Given the description of an element on the screen output the (x, y) to click on. 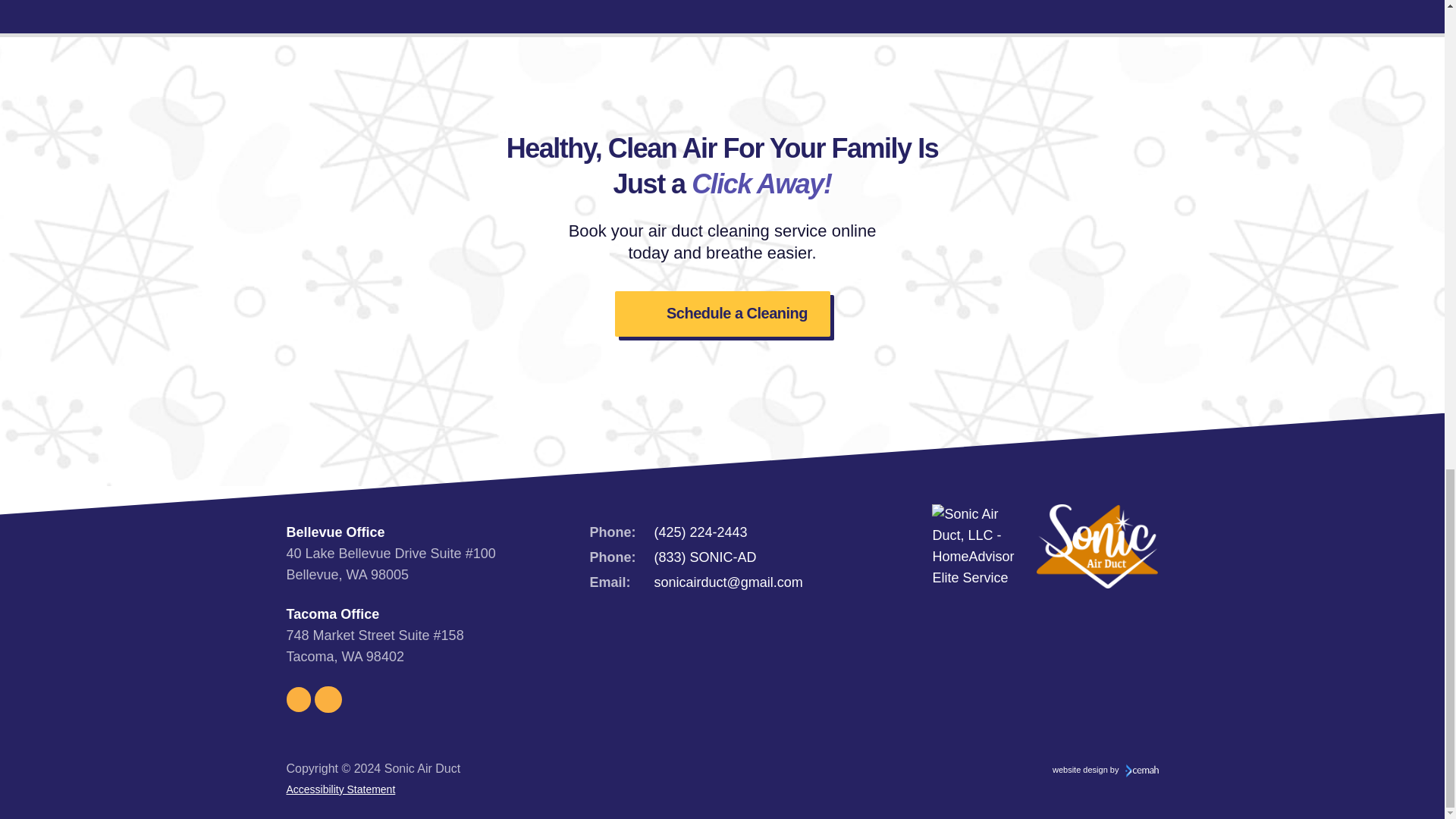
Go to Sonic Air Duct's Yelp listing (327, 698)
Go to Sonic Air Duct's Facebook page (300, 698)
Visit Cemah Creative LLC's website (1105, 770)
